Given the description of an element on the screen output the (x, y) to click on. 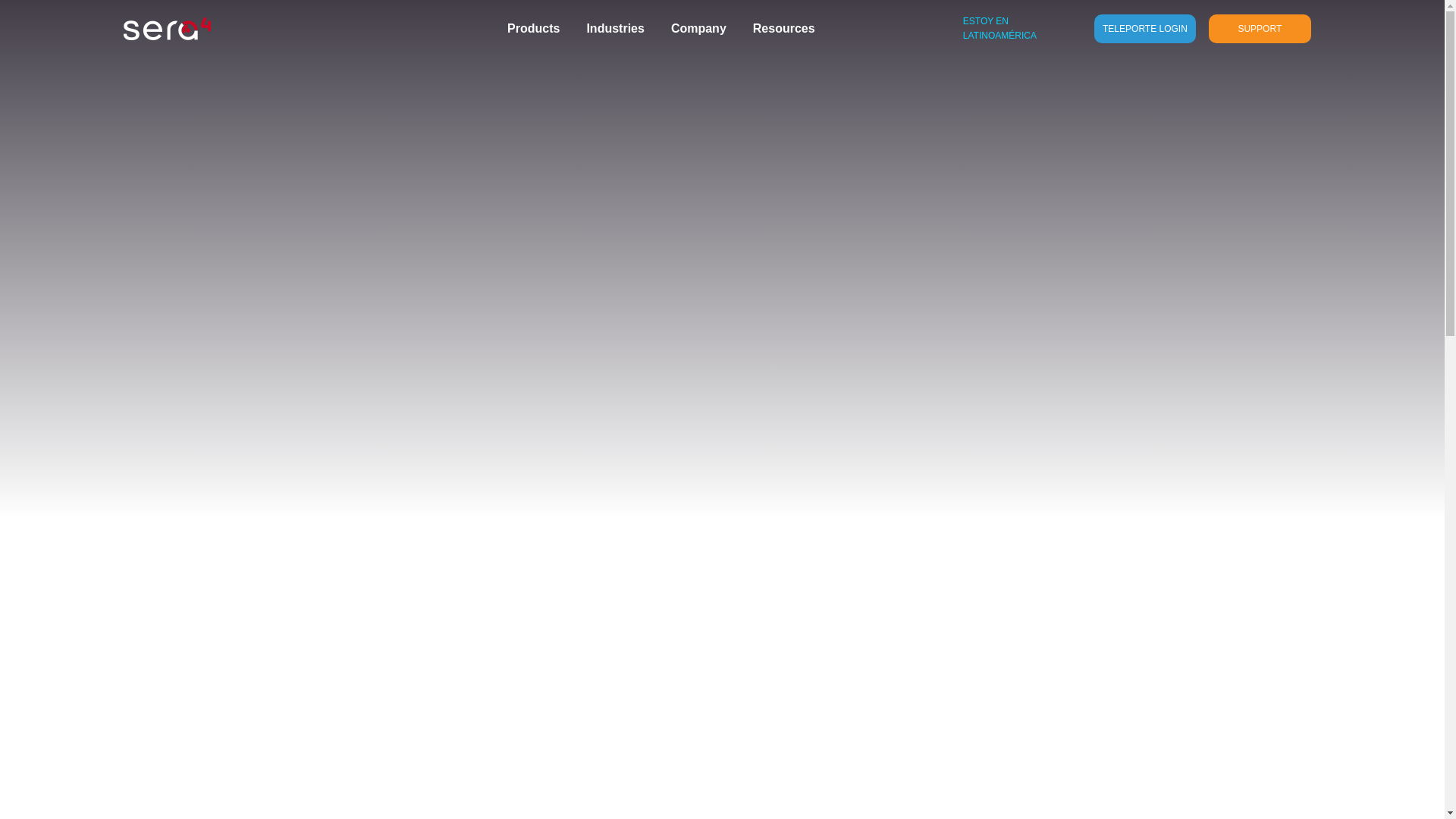
Company (698, 28)
TELEPORTE LOGIN (1144, 28)
Sera4 Logo (165, 28)
Products (532, 28)
Industries (614, 28)
SUPPORT (1259, 28)
Resources (783, 28)
